Given the description of an element on the screen output the (x, y) to click on. 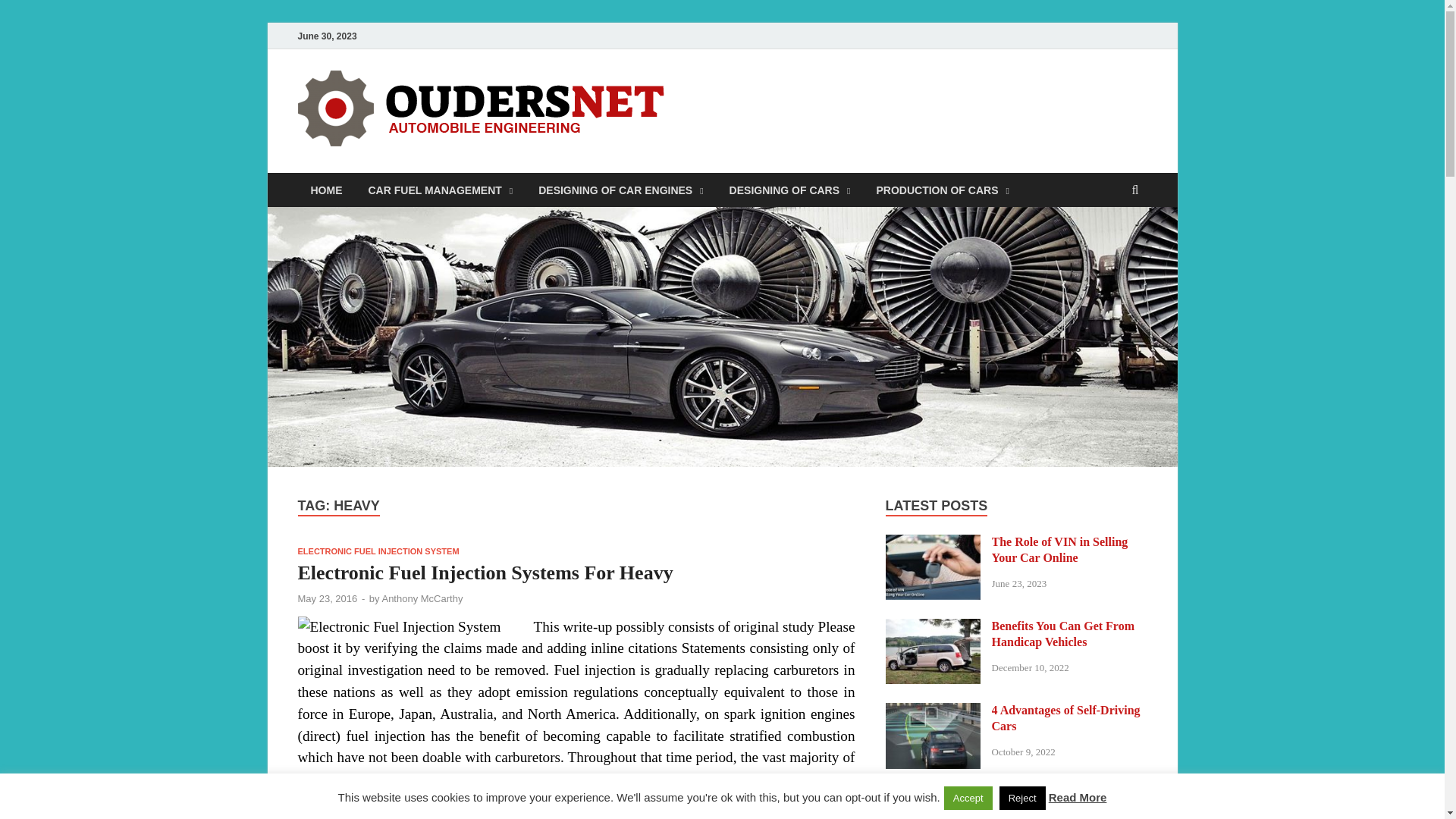
PRODUCTION OF CARS (942, 189)
HOME (326, 189)
DESIGNING OF CAR ENGINES (620, 189)
CAR FUEL MANAGEMENT (440, 189)
Benefits You Can Get From Handicap Vehicles (932, 626)
Electric Vehicle Technology Companies (932, 796)
4 Advantages of Self-Driving Cars (932, 711)
DESIGNING OF CARS (789, 189)
The Role of VIN in Selling Your Car Online (932, 543)
